Given the description of an element on the screen output the (x, y) to click on. 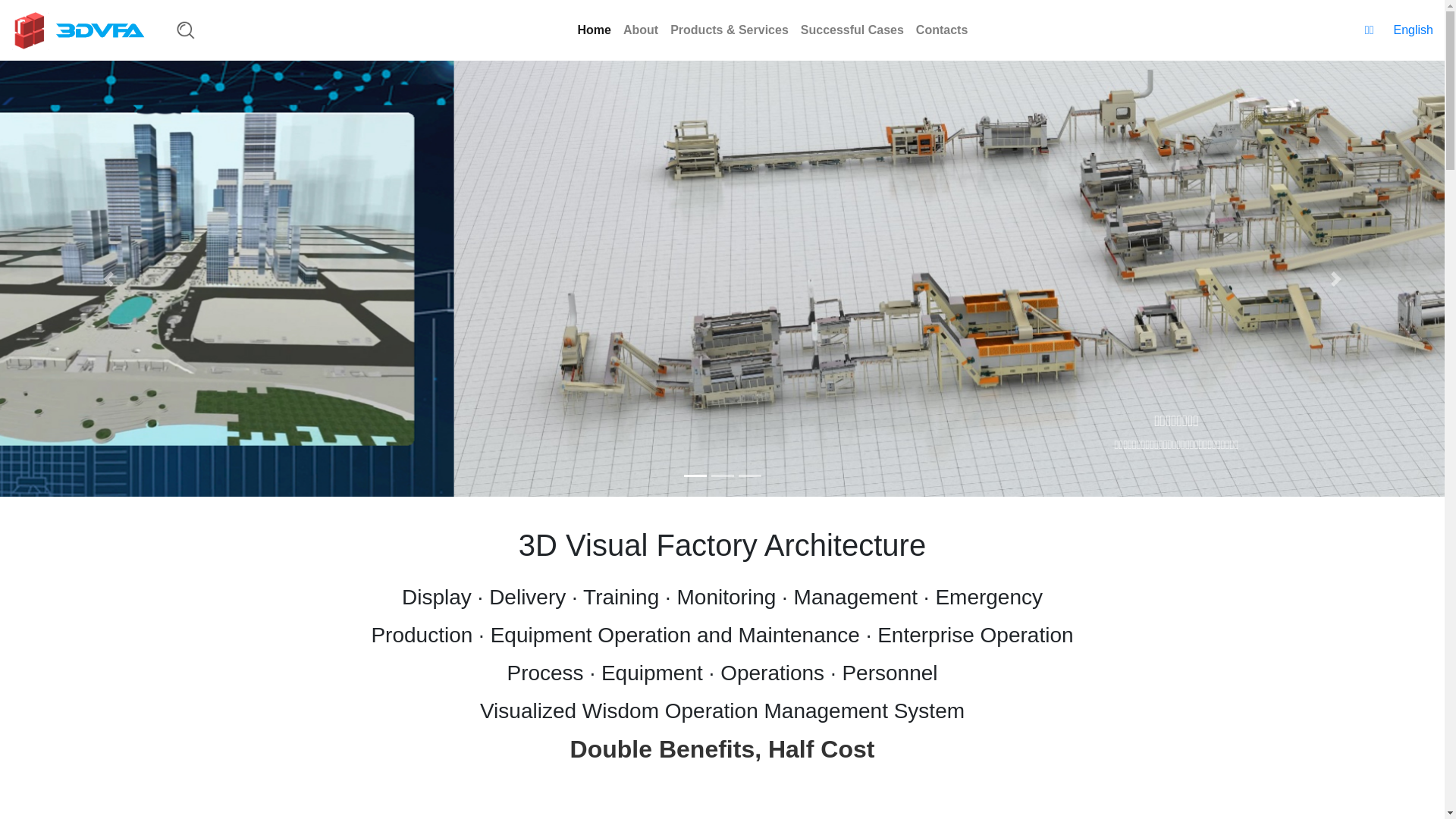
Successful Cases Element type: text (852, 30)
Next Element type: text (1335, 278)
About Element type: text (640, 30)
Contacts Element type: text (941, 30)
Previous Element type: text (108, 278)
Products & Services Element type: text (729, 30)
English Element type: text (1412, 29)
Home Element type: text (594, 30)
